Given the description of an element on the screen output the (x, y) to click on. 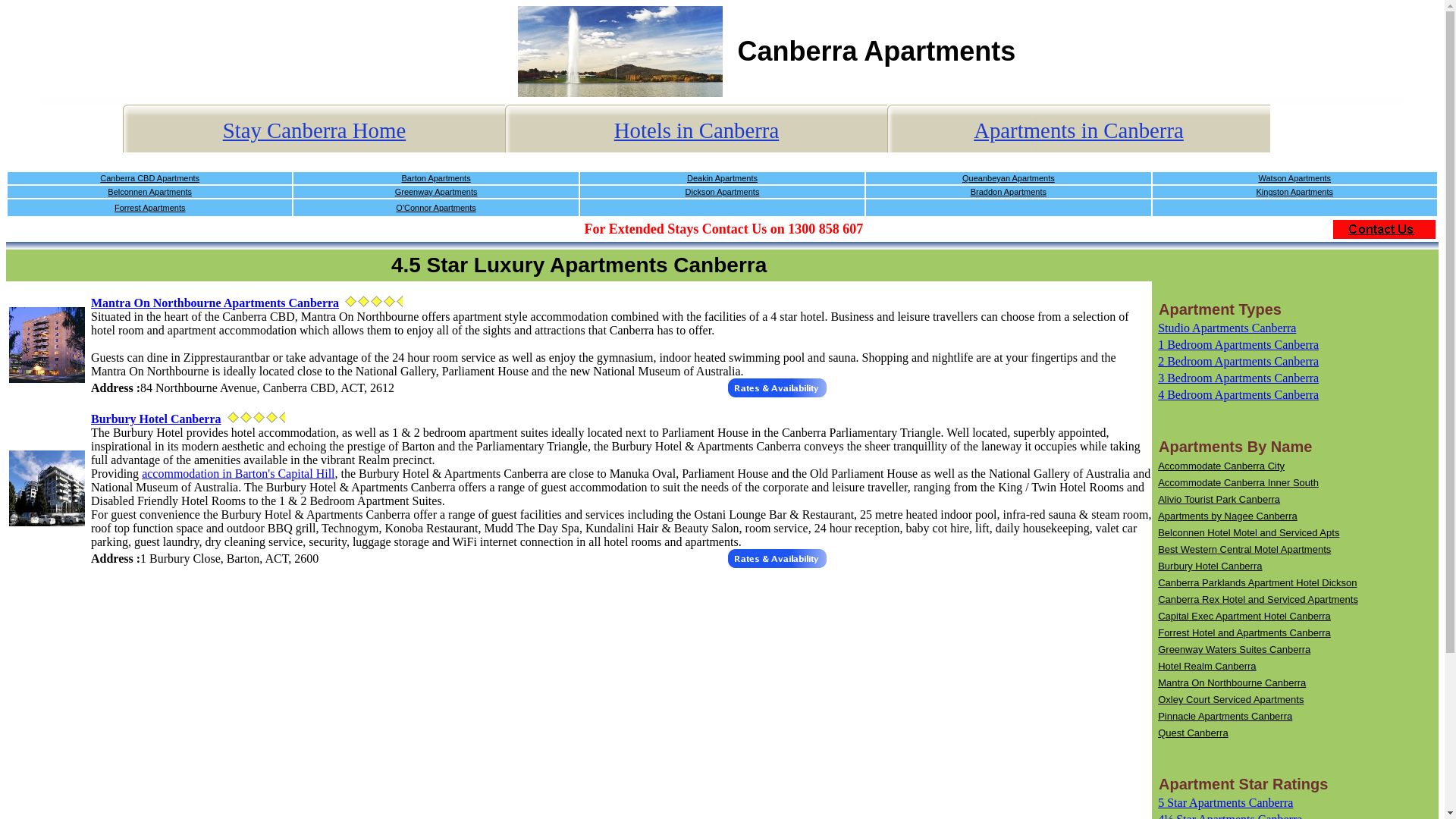
Dickson Apartments (722, 191)
Forrest Hotel and Apartments Canberra (1243, 632)
Alivio Tourist Park Canberra (1218, 499)
Belconnen Apartments (149, 191)
Studio Apartments Canberra (1226, 327)
Canberra CBD Apartments (149, 177)
Burbury Hotel (46, 488)
accommodation in Barton's Capital Hill (237, 472)
Canberra Rex Hotel and Serviced Apartments (1257, 599)
Burbury Hotel Canberra (155, 418)
O'Connor Apartments (436, 207)
Deakin Apartments (722, 177)
Hotel Realm Canberra (1206, 665)
Apartments by Nagee Canberra (1227, 515)
3 Bedroom Apartments Canberra (1238, 377)
